Given the description of an element on the screen output the (x, y) to click on. 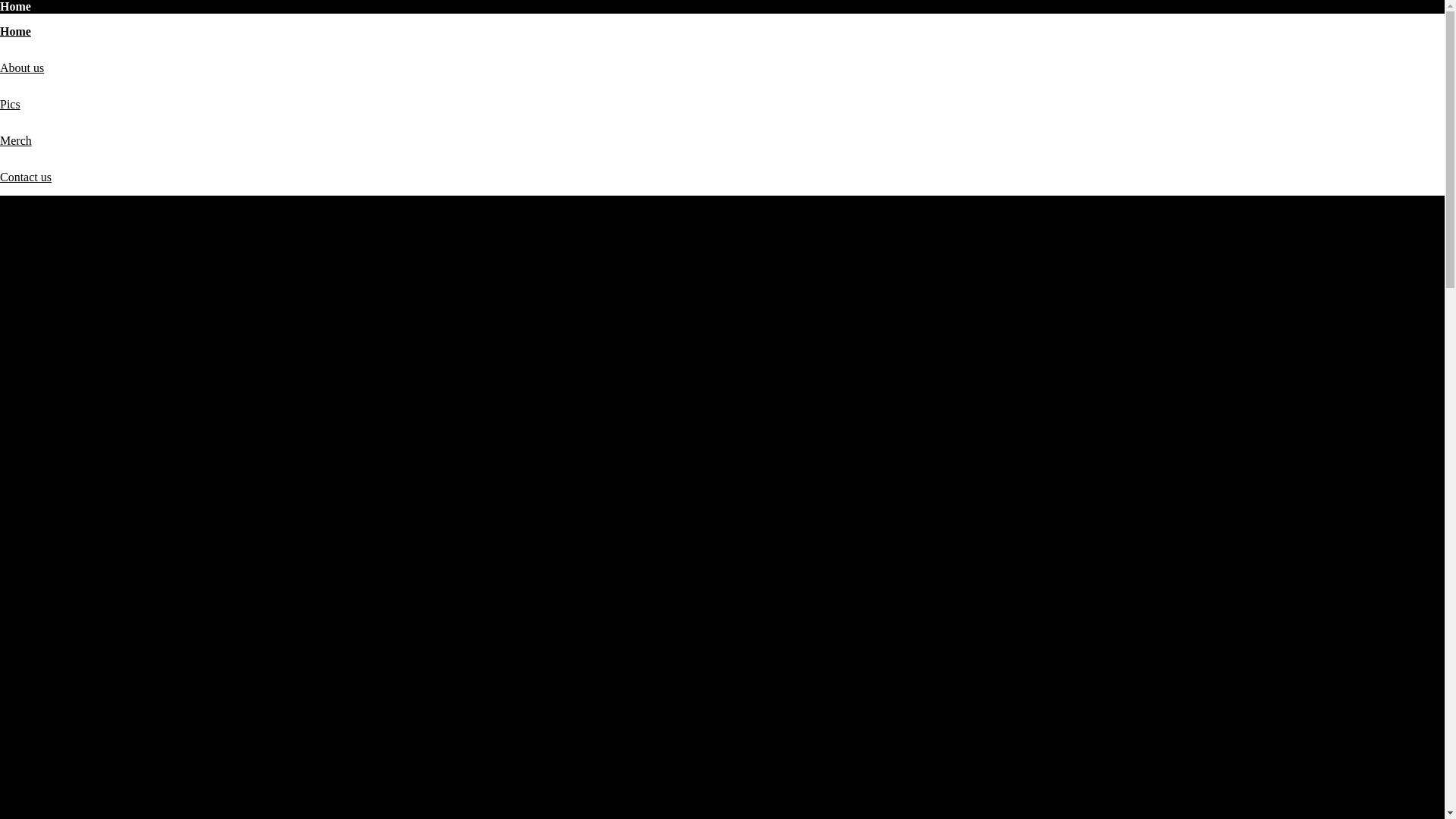
Merch Element type: text (15, 140)
Contact us Element type: text (25, 176)
Pics Element type: text (10, 103)
Home Element type: text (15, 31)
About us Element type: text (21, 67)
